Given the description of an element on the screen output the (x, y) to click on. 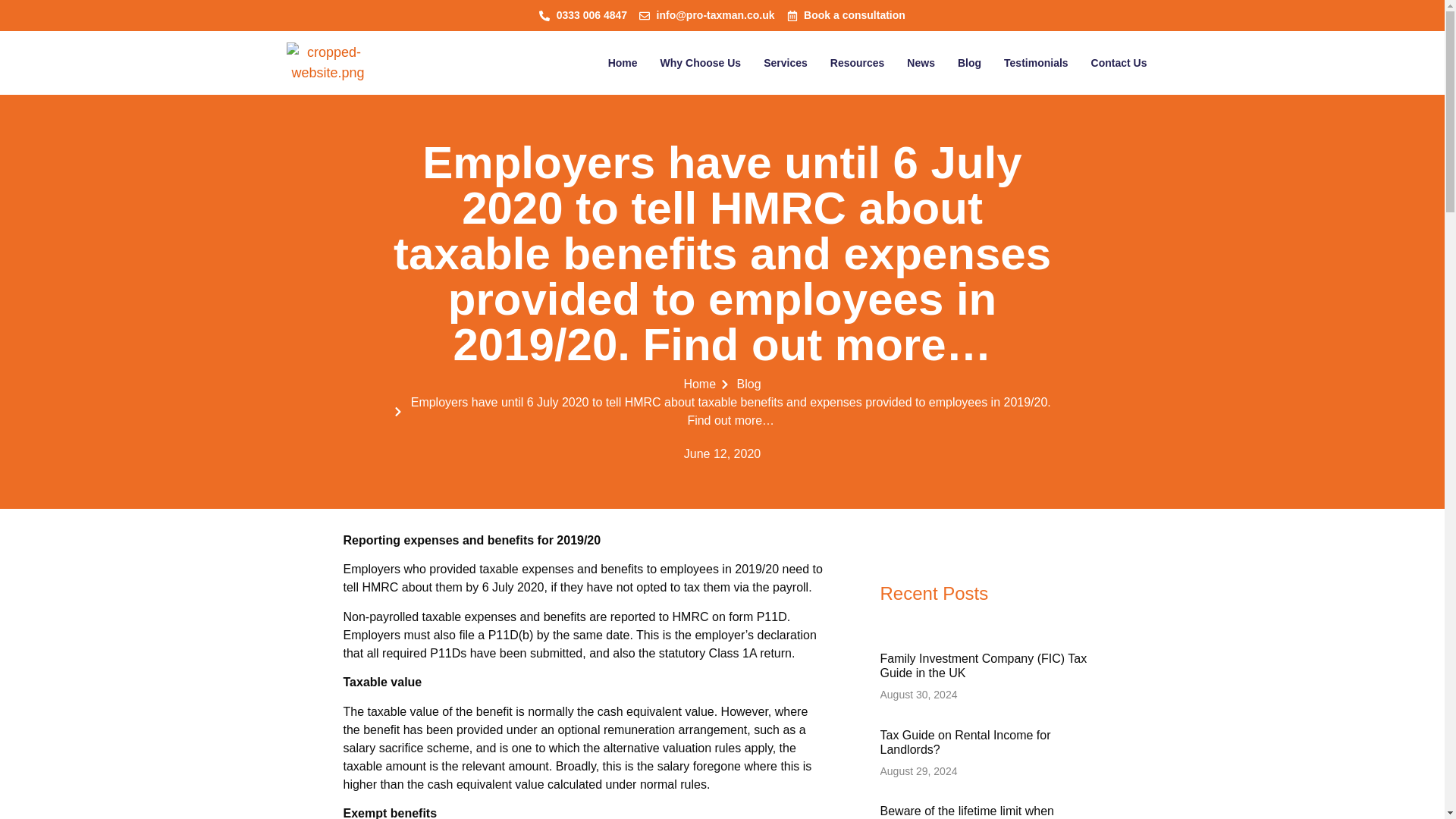
Home (622, 62)
Book a consultation (846, 15)
cropped-website.png (327, 62)
Why Choose Us (700, 62)
0333 006 4847 (582, 15)
Resources (857, 62)
Services (785, 62)
